Given the description of an element on the screen output the (x, y) to click on. 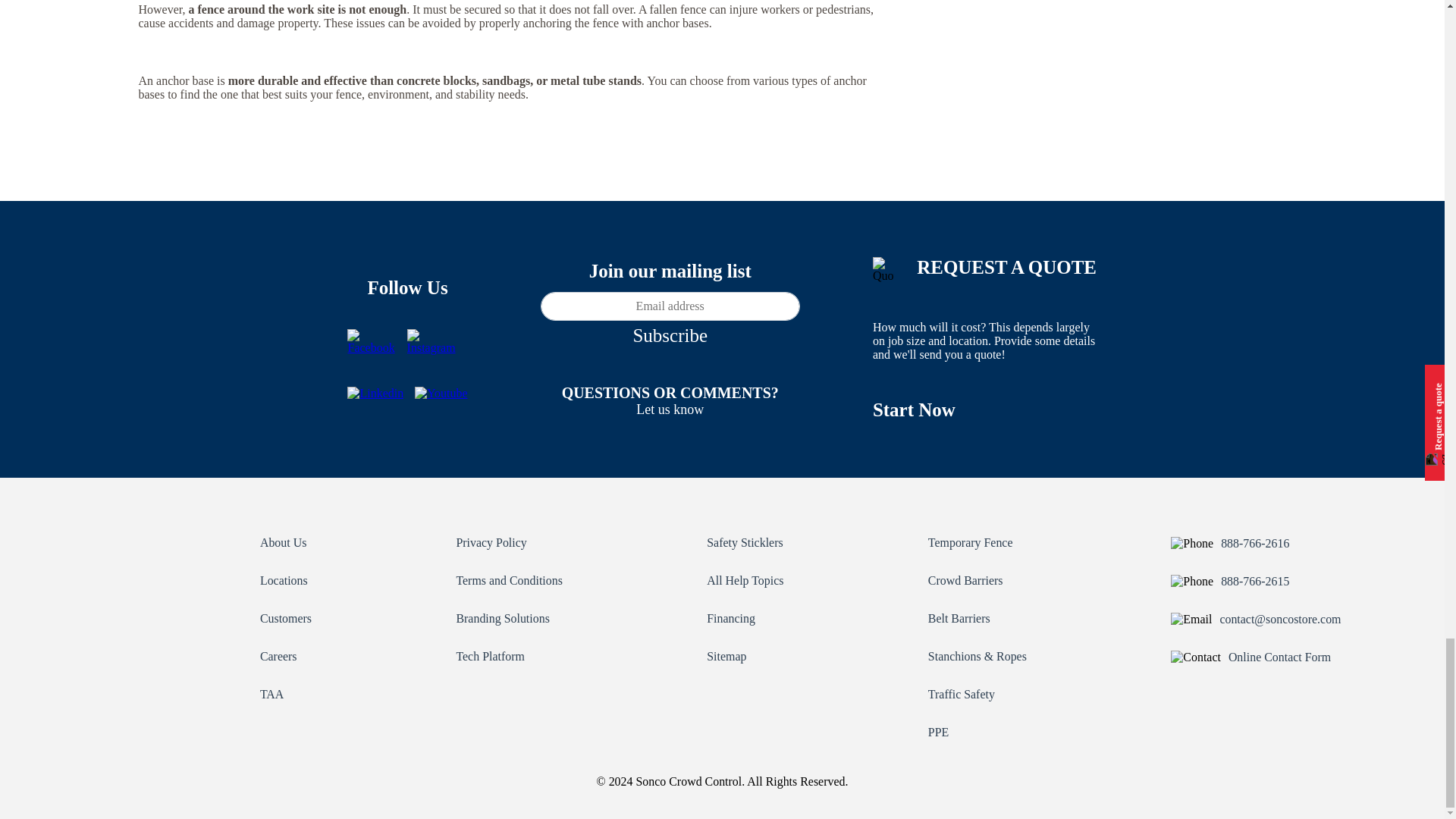
Locations (283, 580)
Start Now (913, 409)
Let us know (669, 409)
Customers (285, 617)
About Us (282, 542)
Careers (278, 656)
Privacy Policy (490, 542)
Terms and Conditions (508, 580)
Subscribe (669, 335)
Branding Solutions (501, 617)
Tech Platform (489, 656)
TAA (271, 694)
